Given the description of an element on the screen output the (x, y) to click on. 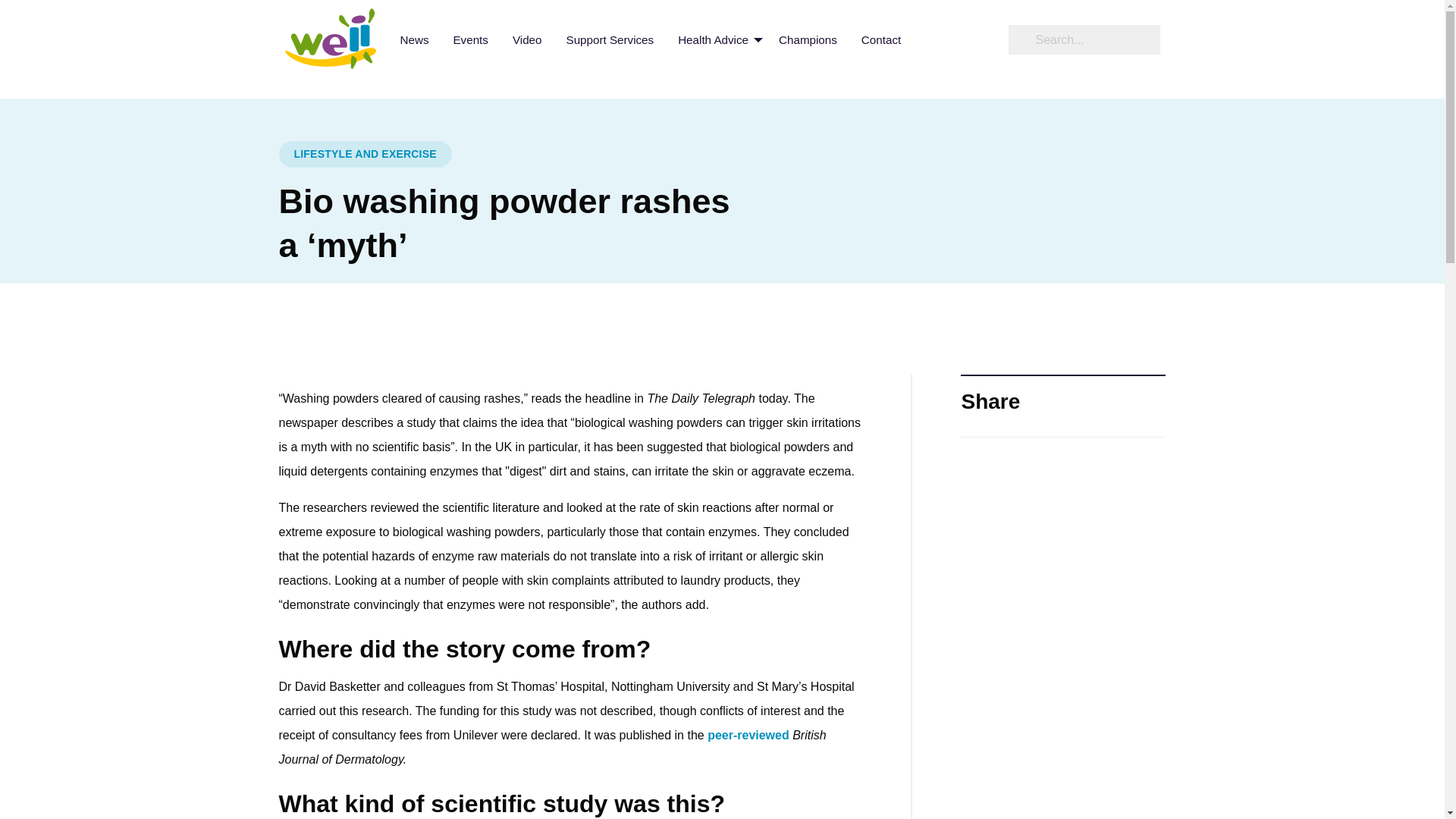
Events (470, 39)
News (414, 39)
Contact (880, 39)
Health Advice (716, 39)
Support Services (609, 39)
Video (527, 39)
Champions (807, 39)
peer-reviewed (748, 735)
